Given the description of an element on the screen output the (x, y) to click on. 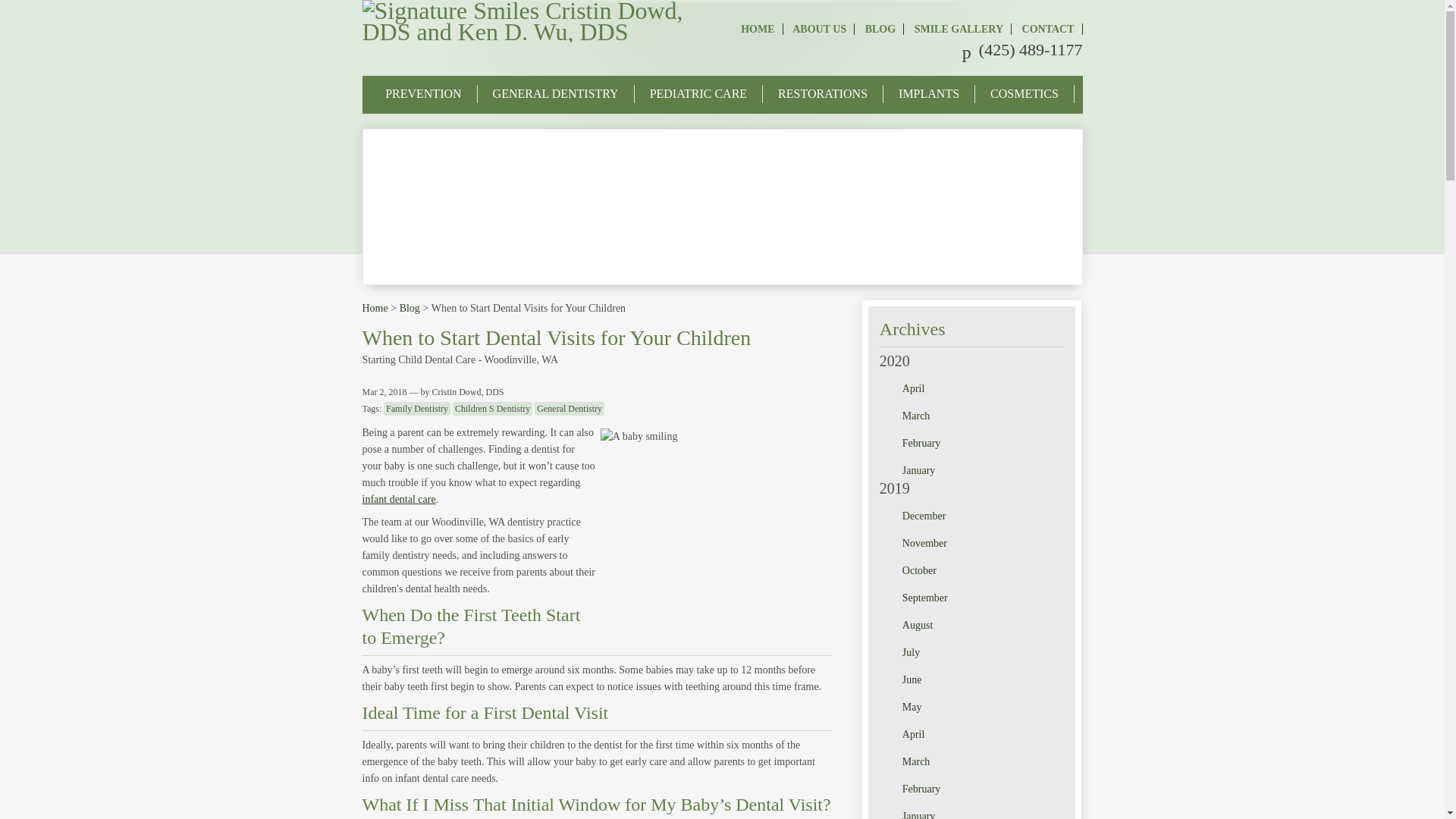
February (979, 443)
IMPLANTS (928, 94)
When to Start Dental Visits for Your Children (556, 337)
ABOUT US (819, 29)
General Dentistry (569, 408)
infant dental care (398, 499)
PREVENTION (423, 94)
September (979, 598)
Family Dentistry (416, 408)
Go to homepage (525, 31)
PEDIATRIC CARE (697, 94)
December (979, 516)
Children S Dentistry (492, 408)
March (979, 415)
November (979, 543)
